Given the description of an element on the screen output the (x, y) to click on. 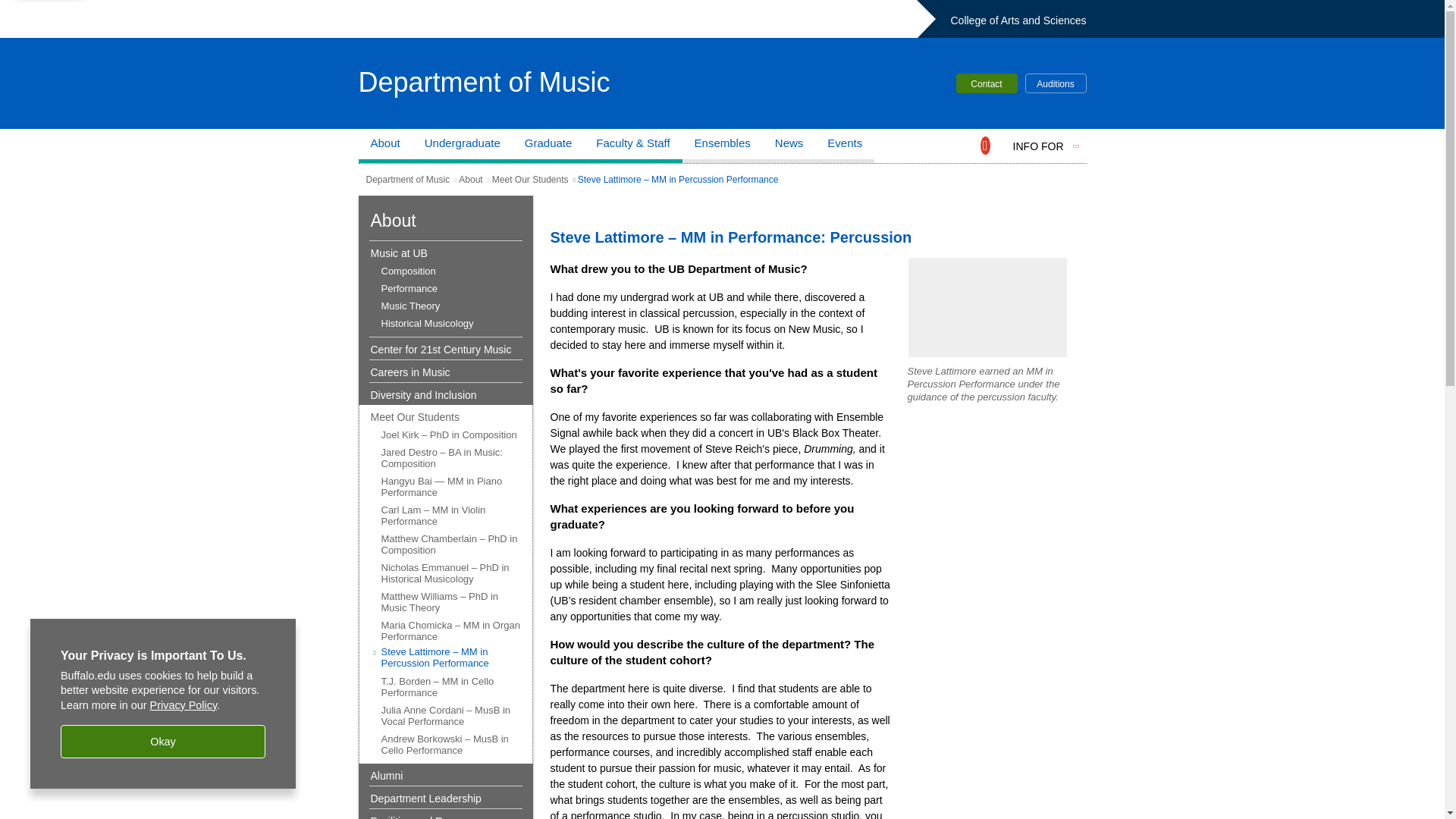
INFO FOR (1038, 146)
Ensembles (722, 145)
Music Theory (446, 306)
College of Arts and Sciences (1018, 19)
Meet Our Students (530, 179)
About (385, 145)
Auditions (1055, 83)
Composition (446, 270)
Contact (985, 83)
Events (845, 145)
